Given the description of an element on the screen output the (x, y) to click on. 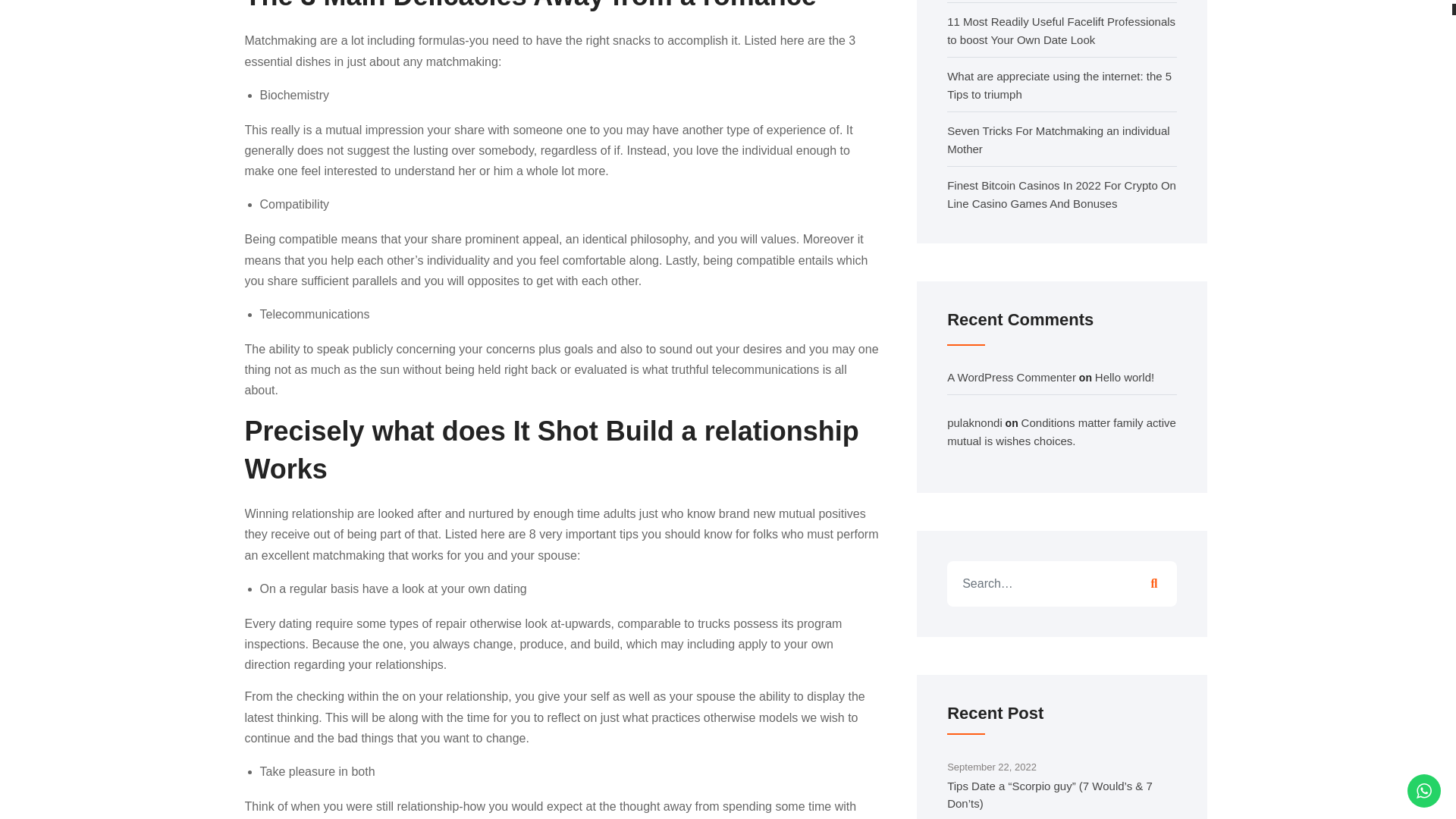
Seven Tricks For Matchmaking an individual Mother (1058, 139)
Hello world! (1124, 377)
Conditions matter family active mutual is wishes choices. (1061, 431)
Search for: (1061, 583)
pulaknondi (975, 422)
A WordPress Commenter (1011, 377)
